Given the description of an element on the screen output the (x, y) to click on. 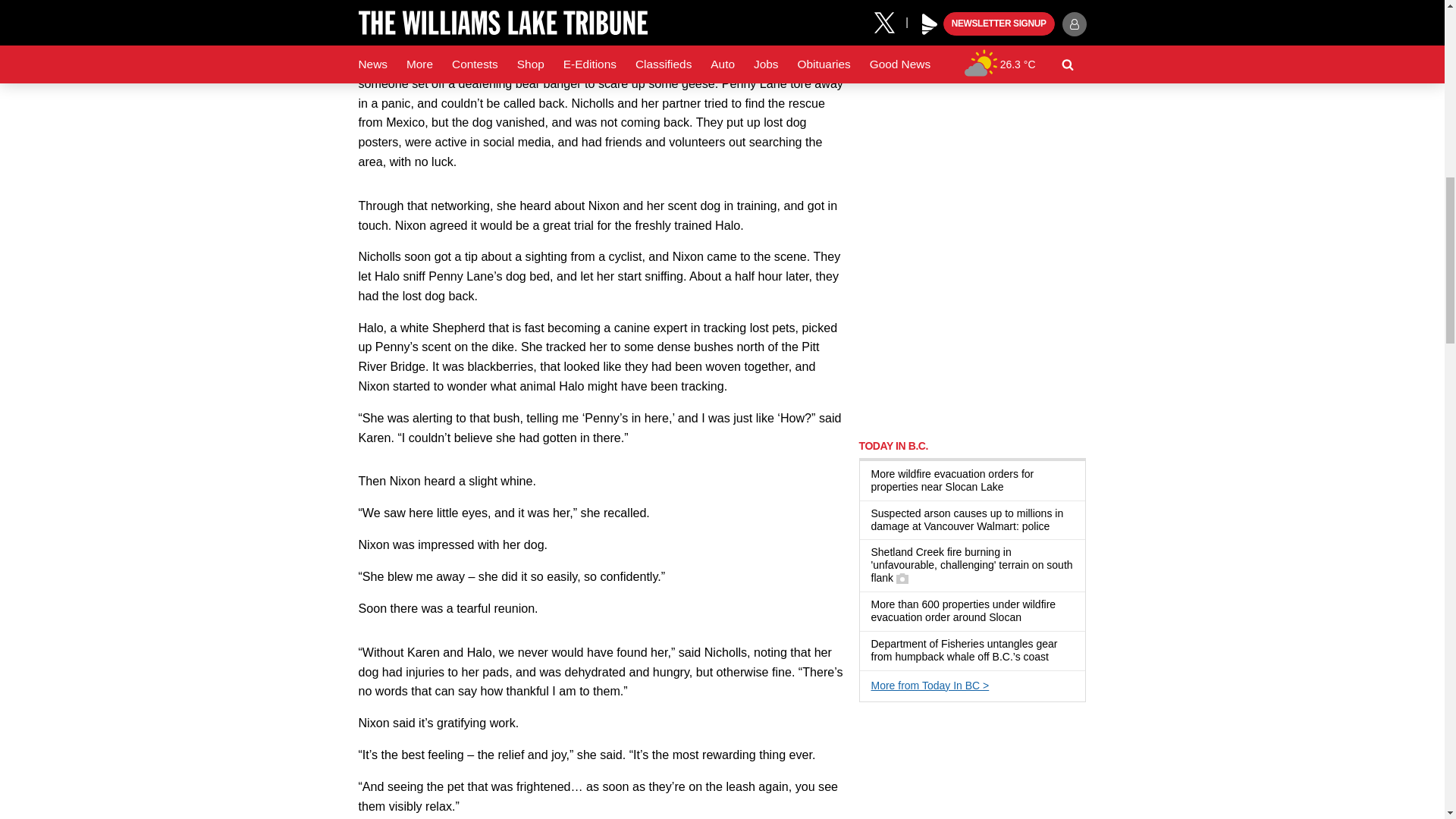
Has a gallery (902, 578)
